Given the description of an element on the screen output the (x, y) to click on. 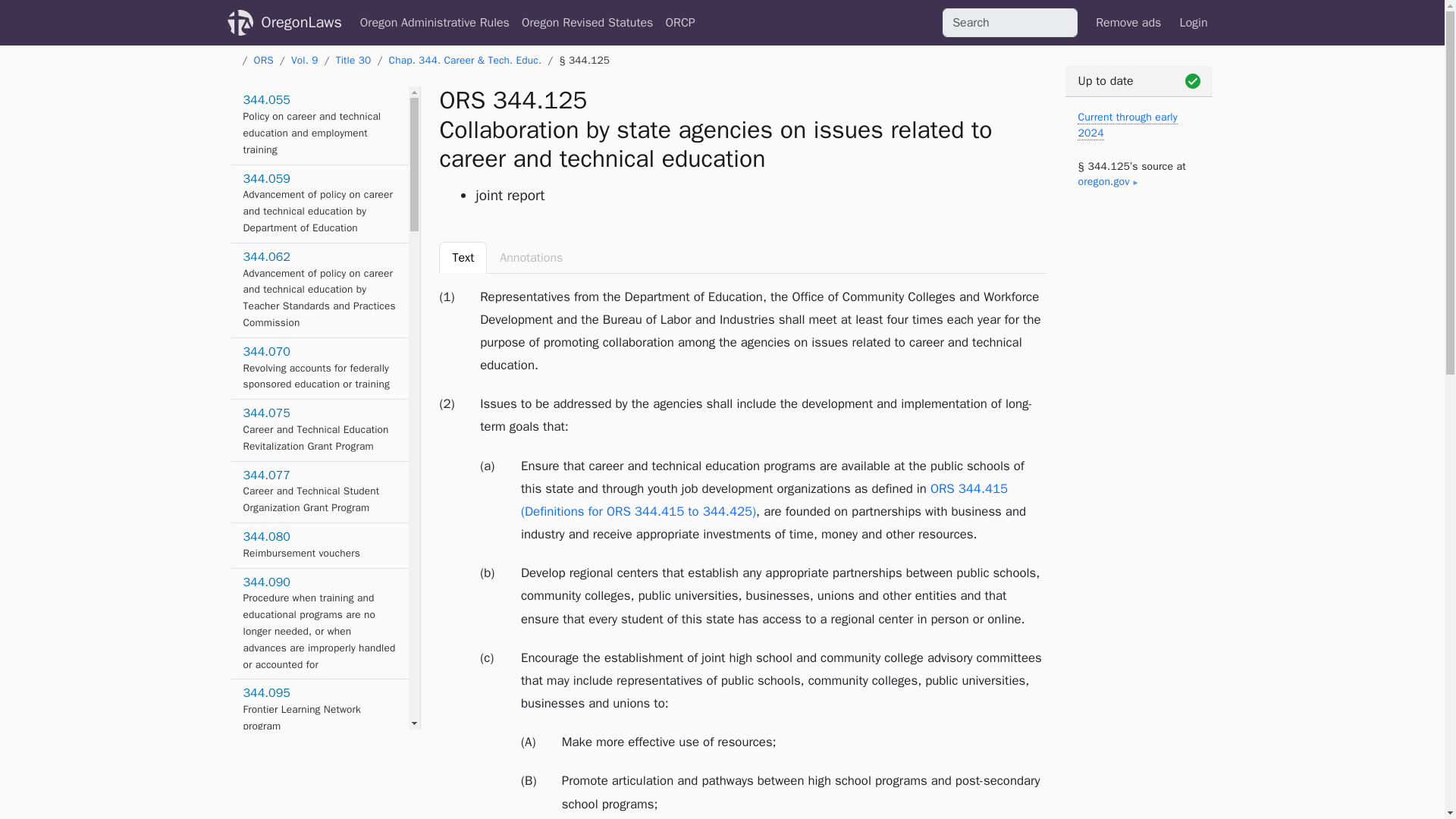
OregonLaws (300, 22)
Vol. 9 (304, 60)
Remove ads (1128, 22)
Login (1192, 22)
ORS (263, 60)
Oregon Revised Statutes (319, 772)
ORCP (587, 22)
